Given the description of an element on the screen output the (x, y) to click on. 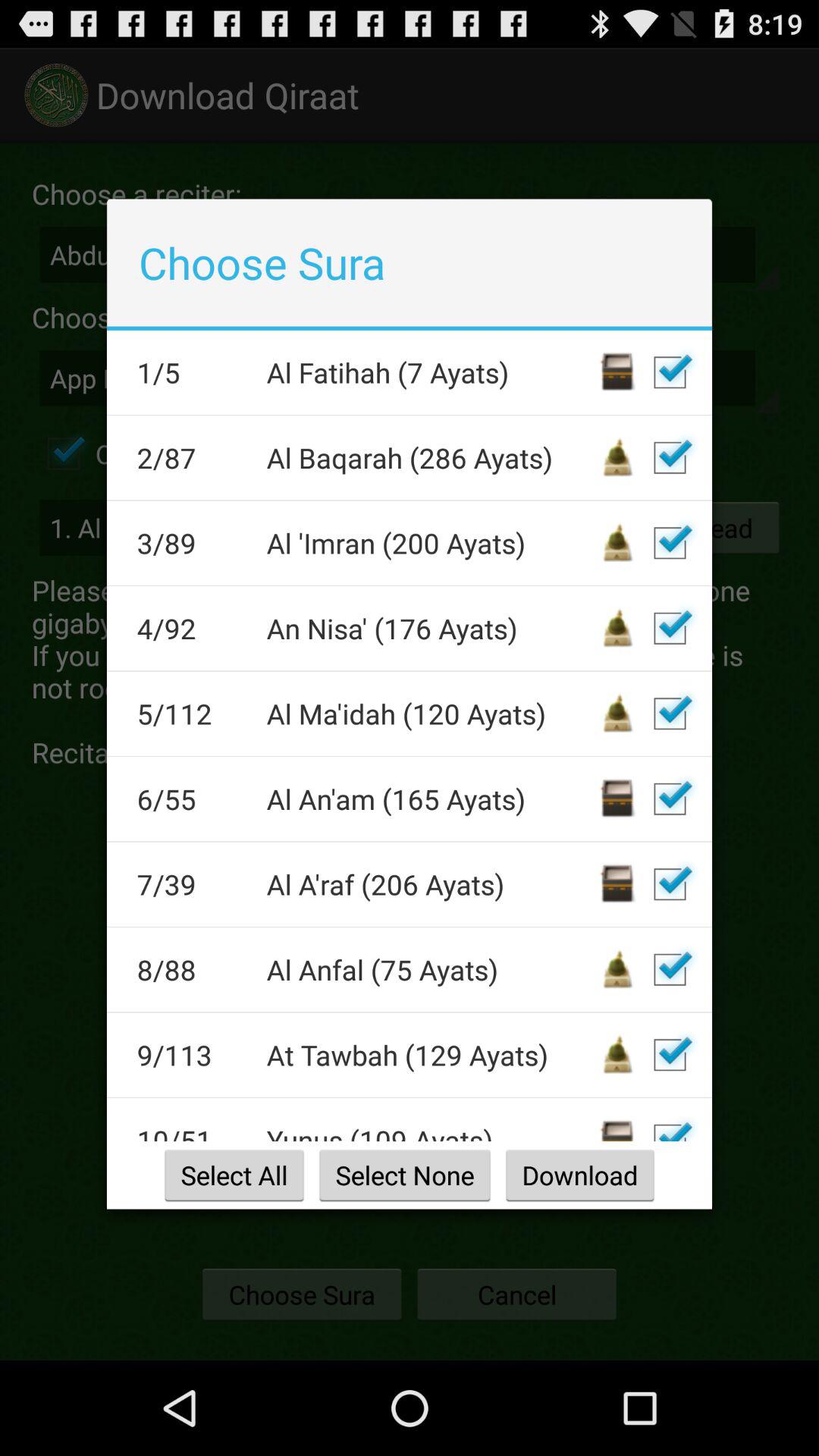
toggle checkbox (669, 372)
